Given the description of an element on the screen output the (x, y) to click on. 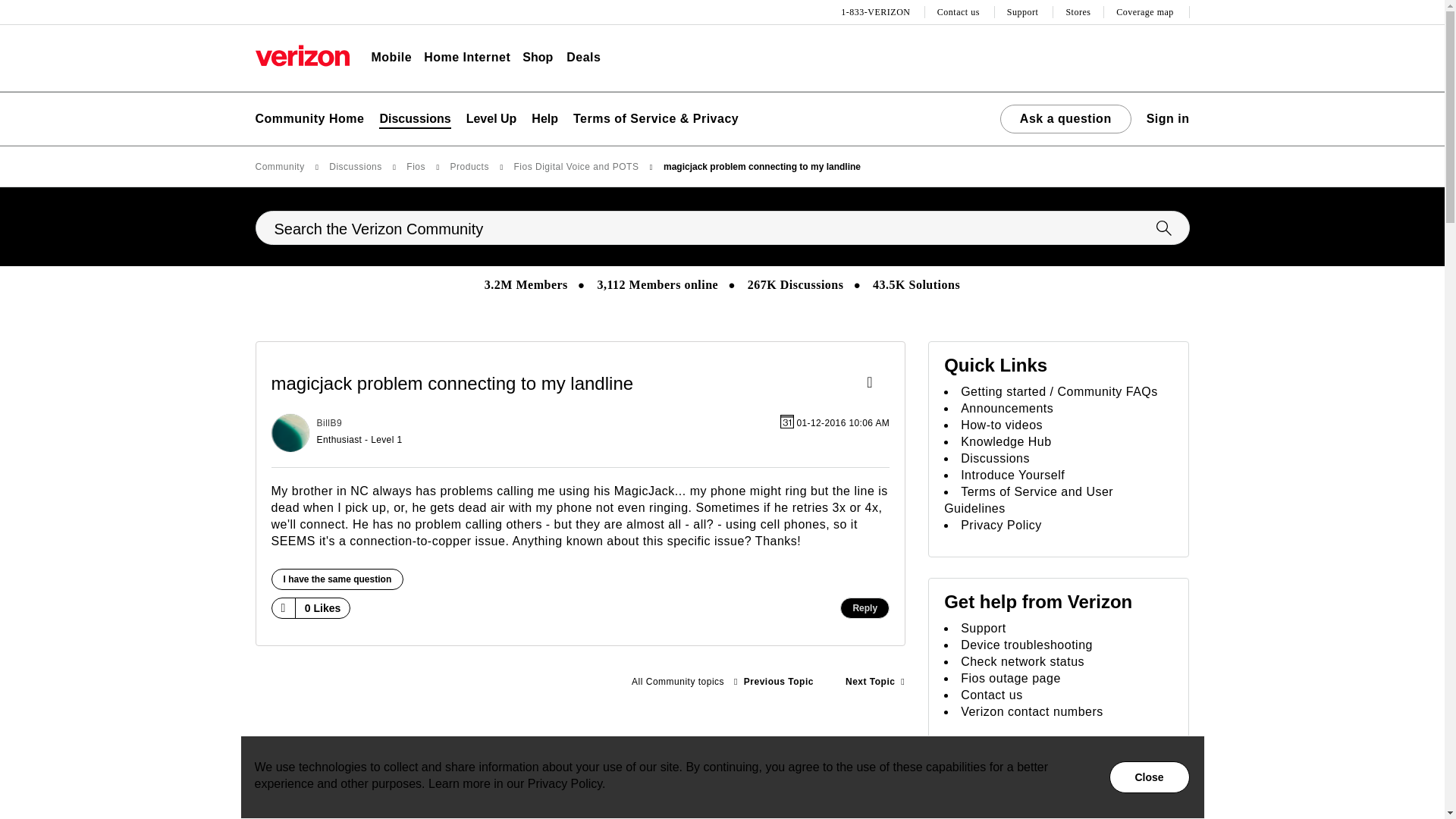
Stores (1078, 12)
Click here if you had a similar experience (337, 578)
Show option menu (874, 383)
Posted on (668, 433)
Fios Digital Voice and POTS (677, 682)
1-833-VERIZON (876, 12)
The total number of likes this post has received. (322, 608)
Home Internet (467, 57)
BillB9 (289, 433)
Click here to give likes to this post. (282, 607)
Contact us (959, 12)
Search (721, 227)
Coverage map (1146, 12)
Shop (537, 57)
